Given the description of an element on the screen output the (x, y) to click on. 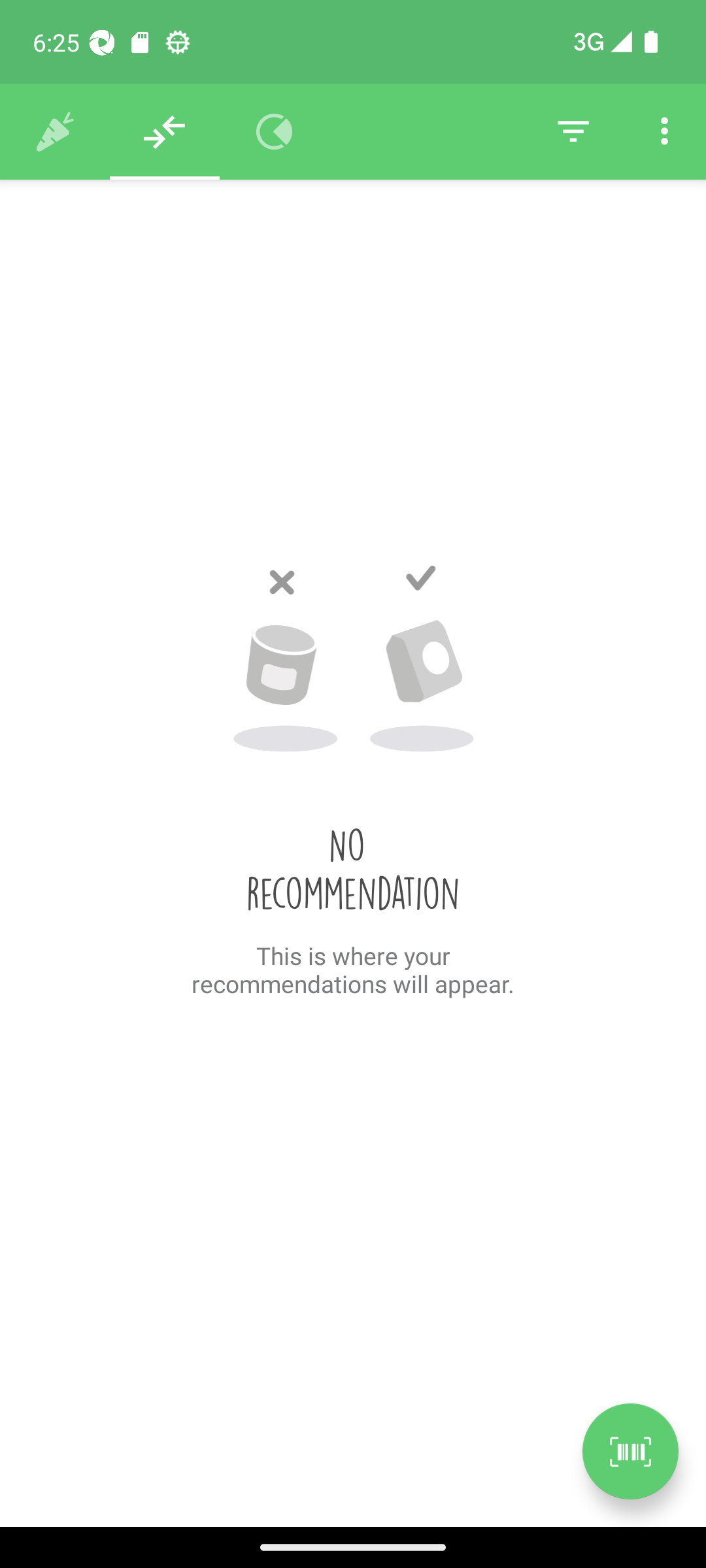
History (55, 131)
Overview (274, 131)
Filter (572, 131)
Settings (664, 131)
Scan a product (630, 1451)
